Given the description of an element on the screen output the (x, y) to click on. 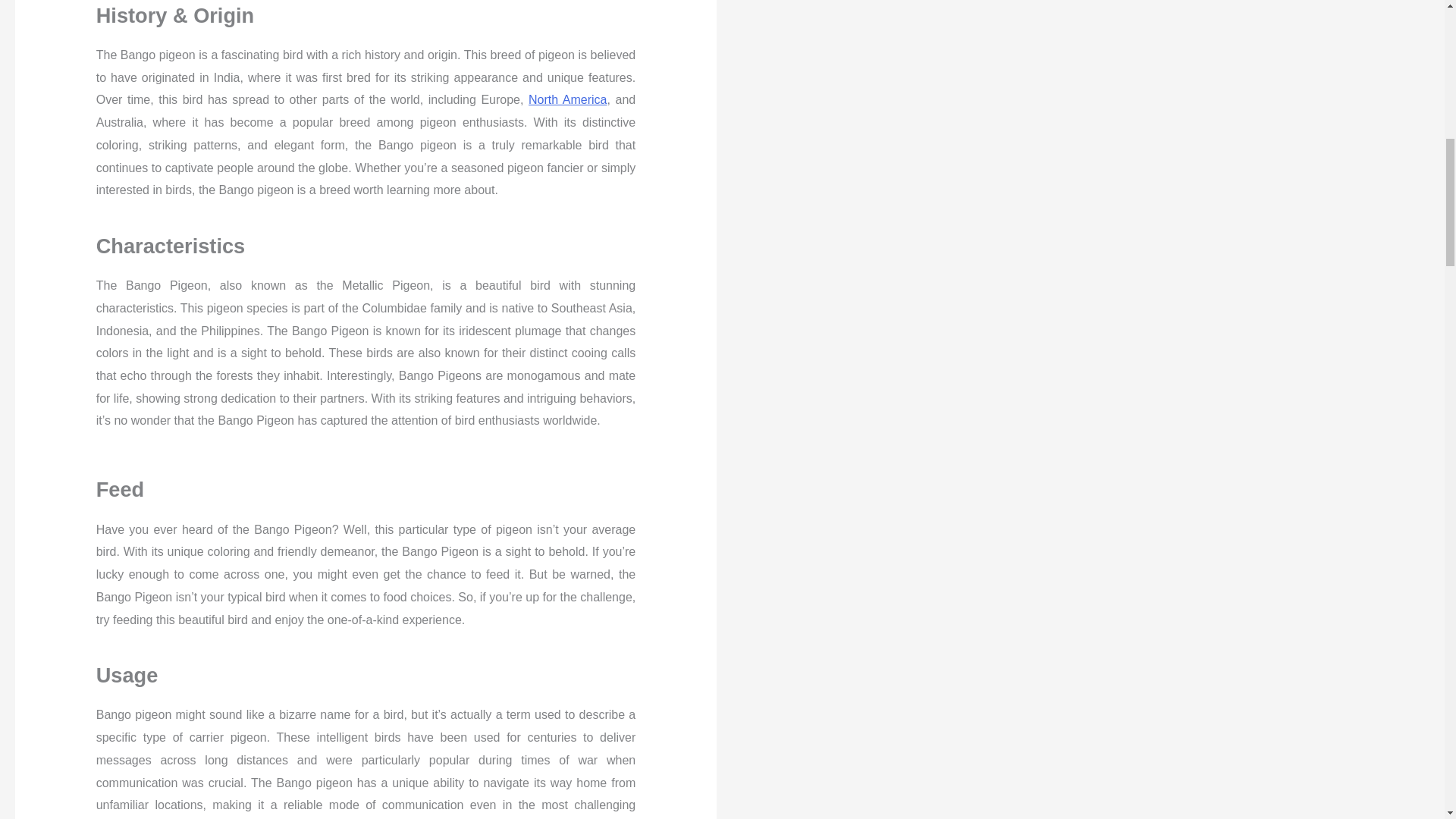
North America (567, 99)
